Given the description of an element on the screen output the (x, y) to click on. 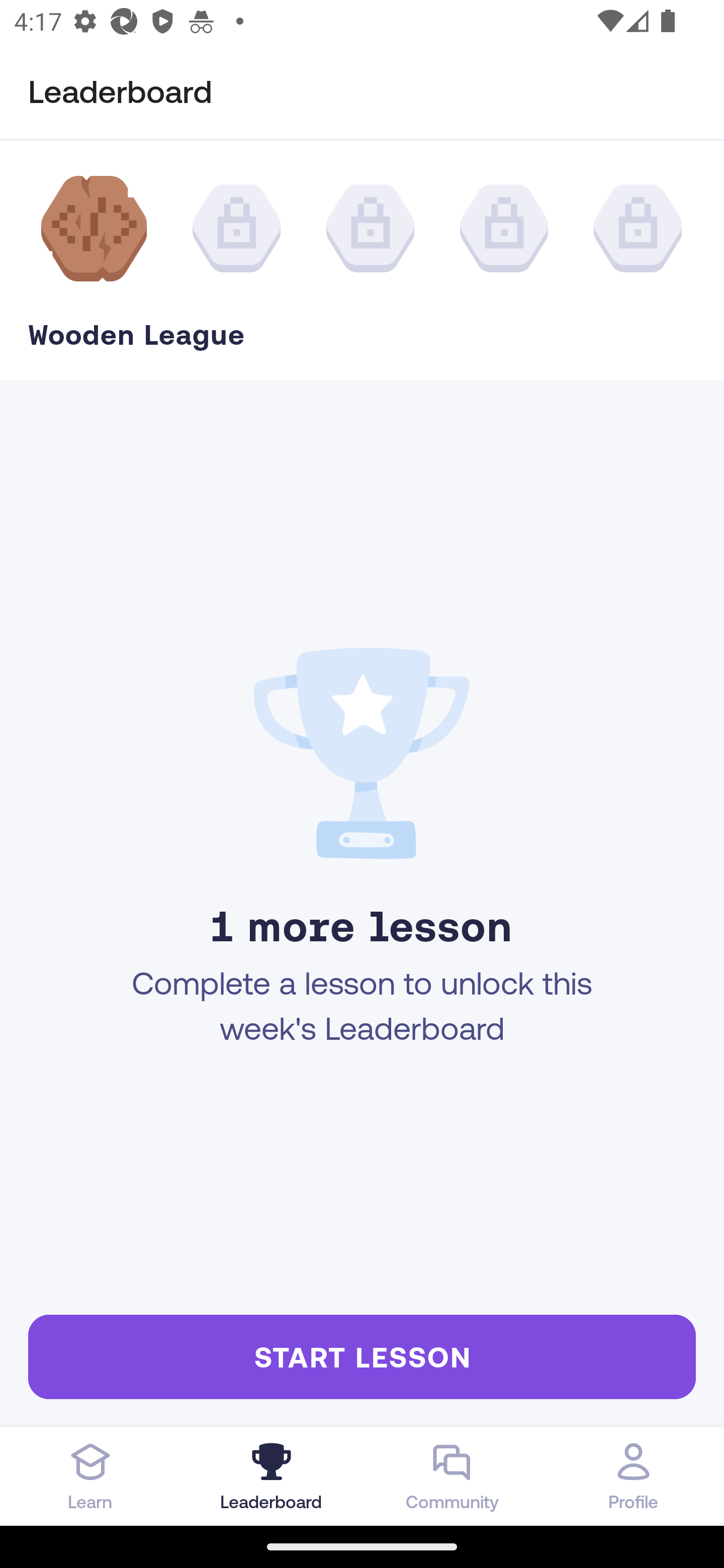
START LESSON (361, 1355)
Learn (90, 1475)
Community (452, 1475)
Profile (633, 1475)
